Given the description of an element on the screen output the (x, y) to click on. 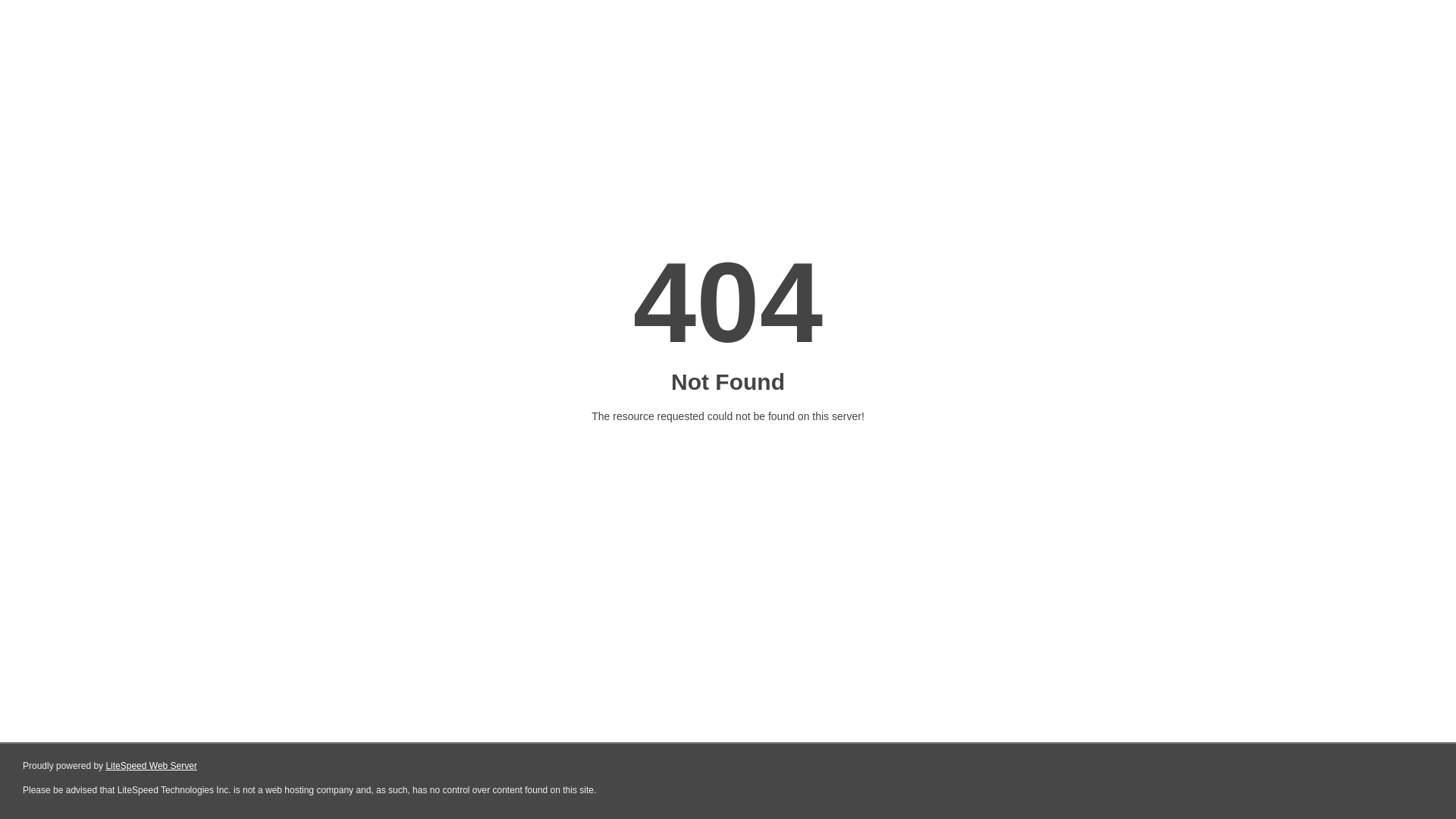
LiteSpeed Web Server Element type: text (151, 765)
